Given the description of an element on the screen output the (x, y) to click on. 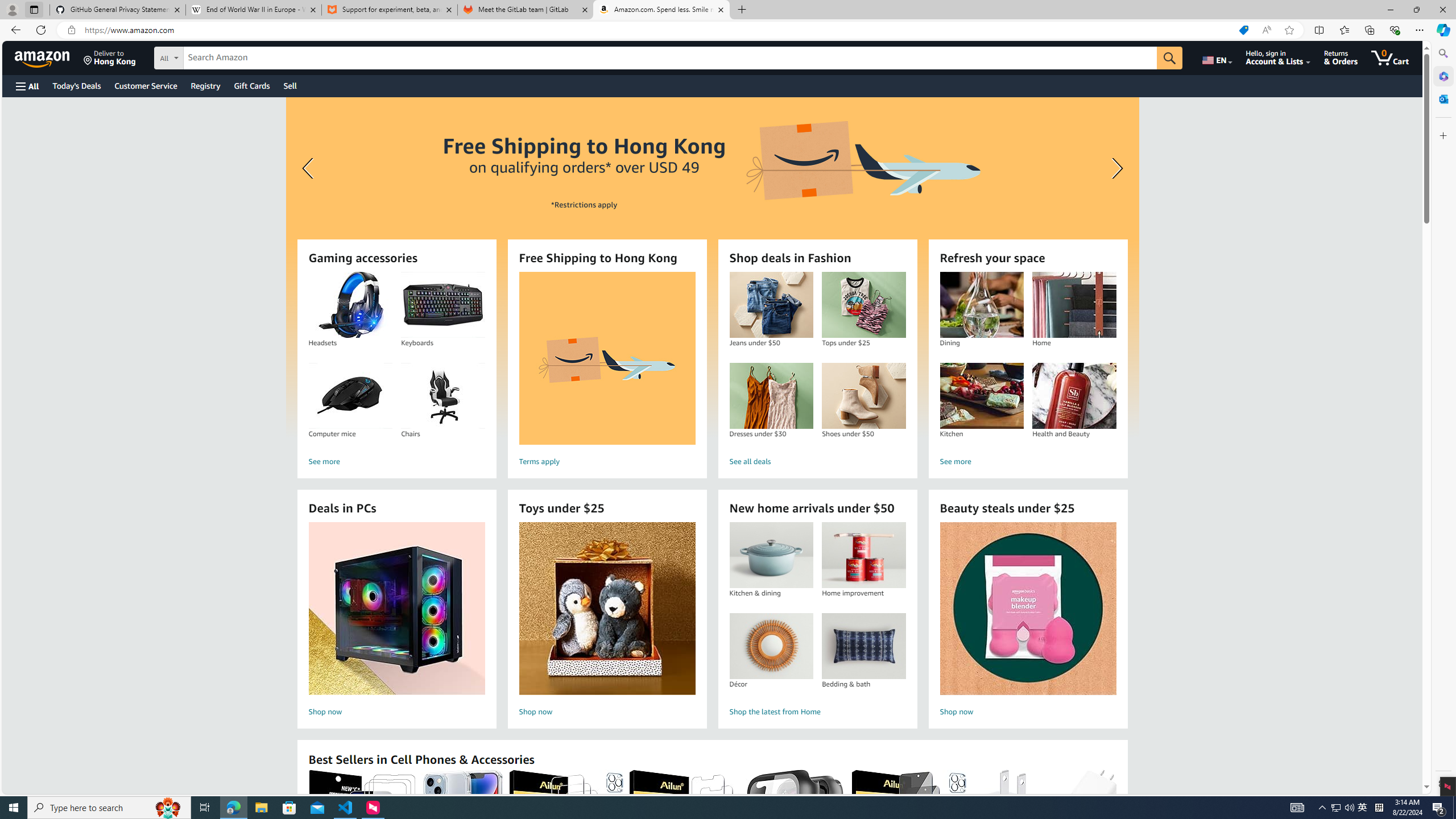
Go (1169, 57)
Keyboards (443, 304)
Shoes under $50 (863, 395)
Shopping in Microsoft Edge (1243, 29)
Deals in PCs Shop now (396, 620)
Deals in PCs (395, 608)
Kitchen (981, 395)
Registry (205, 85)
Dining (981, 304)
Search Amazon (670, 57)
Toys under $25 (606, 608)
